Given the description of an element on the screen output the (x, y) to click on. 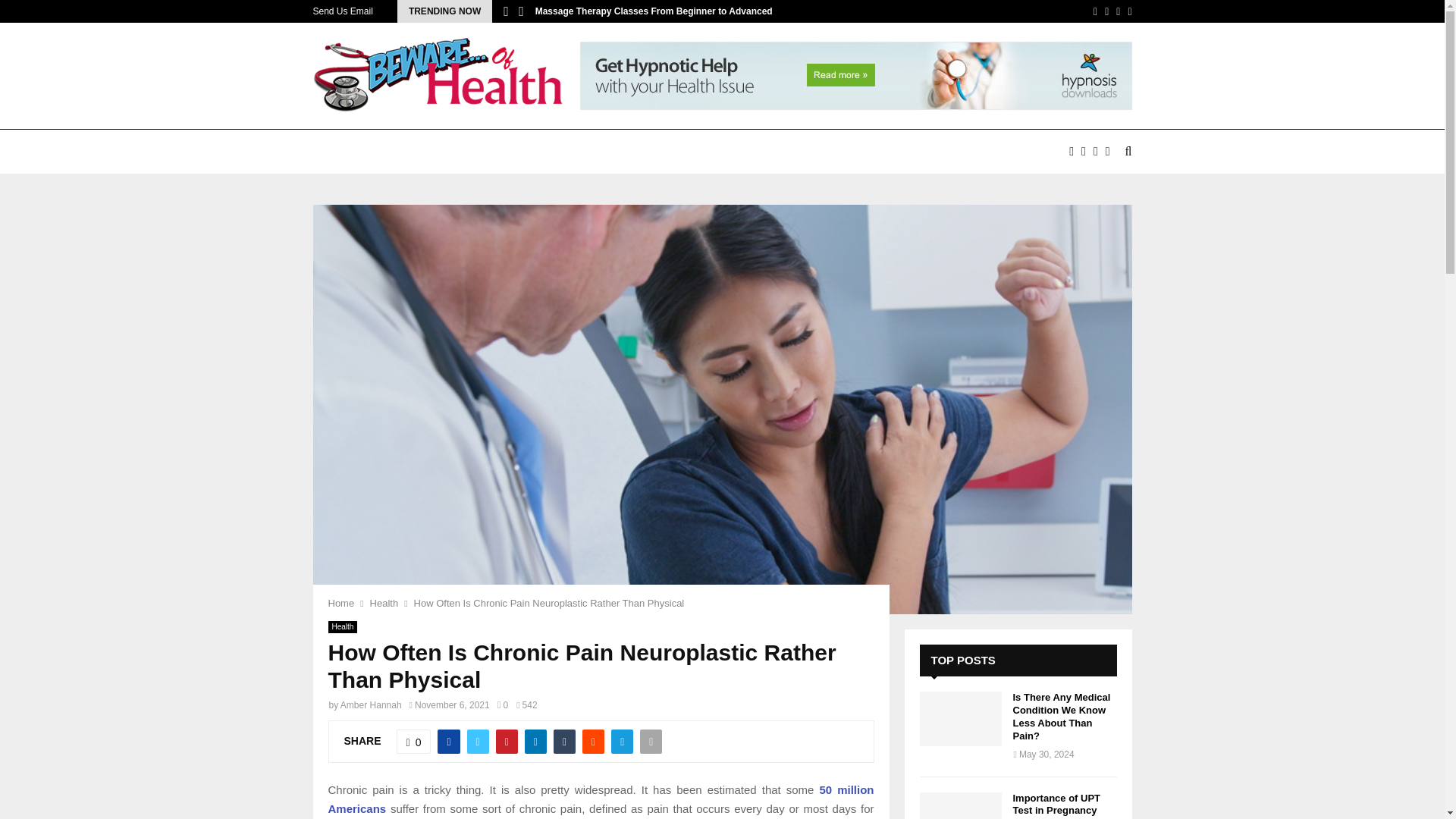
Send Us Email (342, 11)
NUTRITION (716, 151)
TREATMENT (981, 151)
DIET (506, 151)
THERAPY (898, 151)
Massage Therapy Classes From Beginner to Advanced (654, 10)
Like (413, 741)
SUPPLEMENT (808, 151)
ACUPRESSURE (425, 151)
FITNESS (568, 151)
HEALTH (639, 151)
HOME (342, 151)
